Given the description of an element on the screen output the (x, y) to click on. 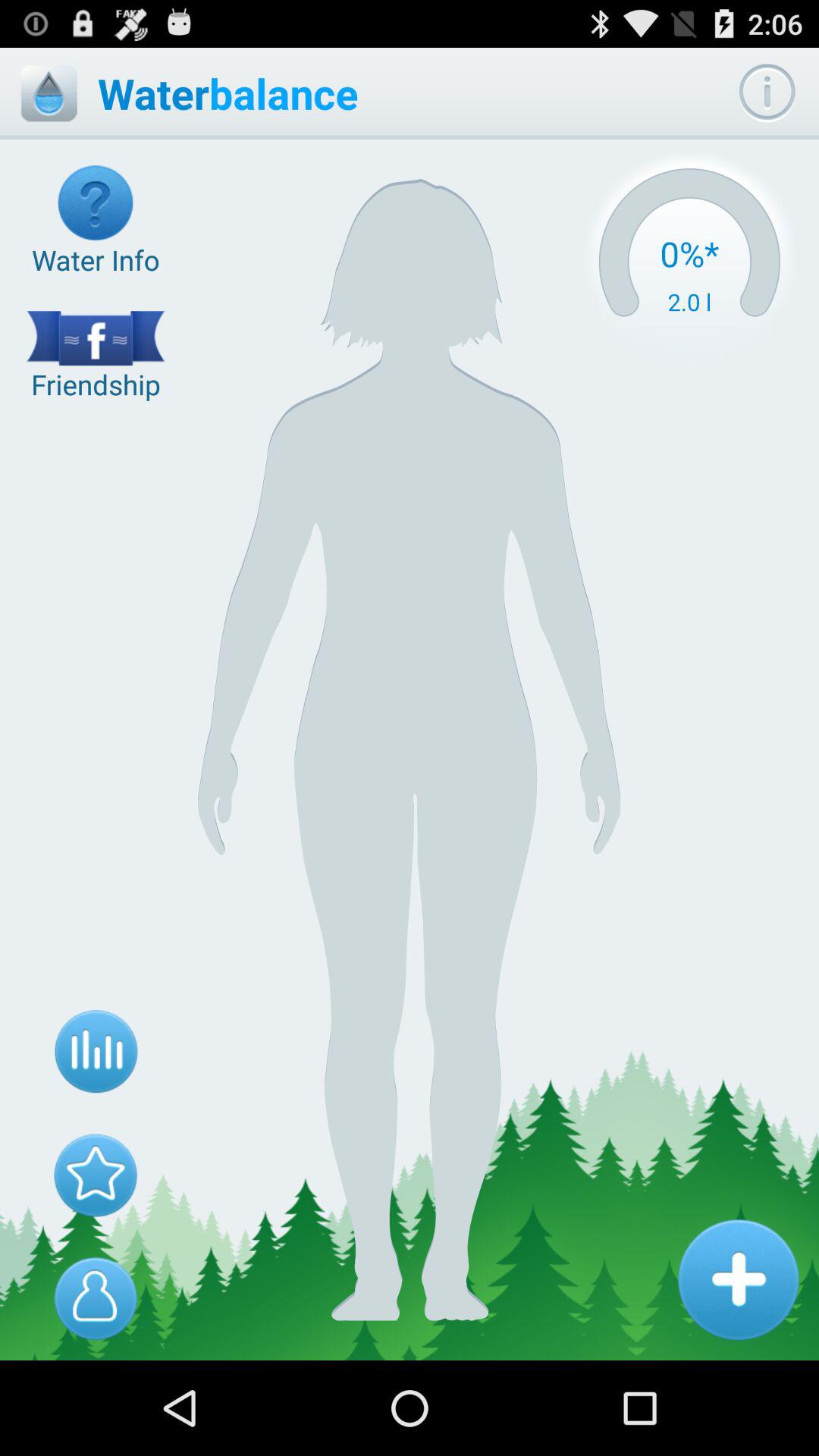
scroll until water info item (95, 221)
